Given the description of an element on the screen output the (x, y) to click on. 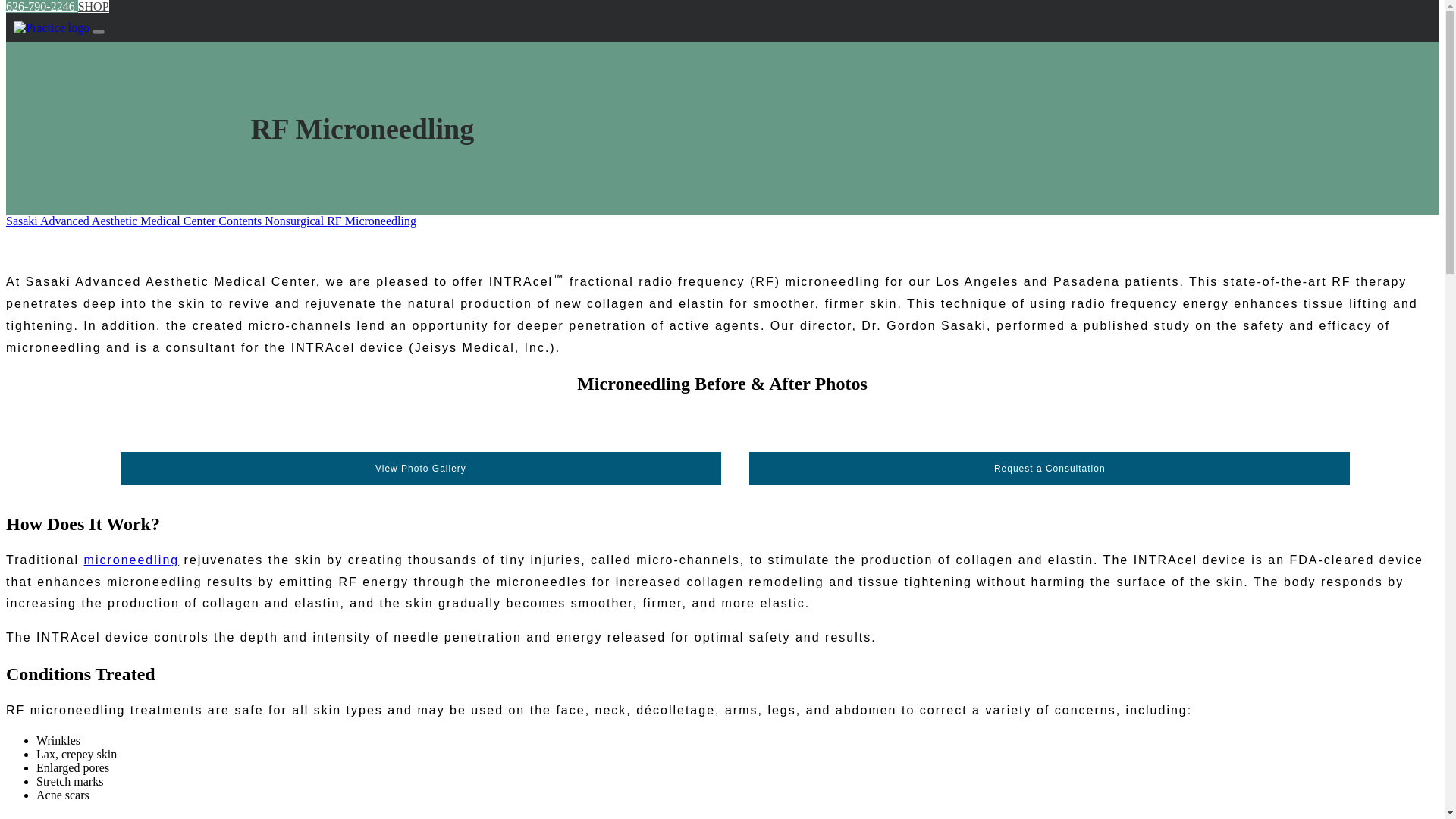
626-790-2246 (41, 6)
SHOP (93, 6)
